Given the description of an element on the screen output the (x, y) to click on. 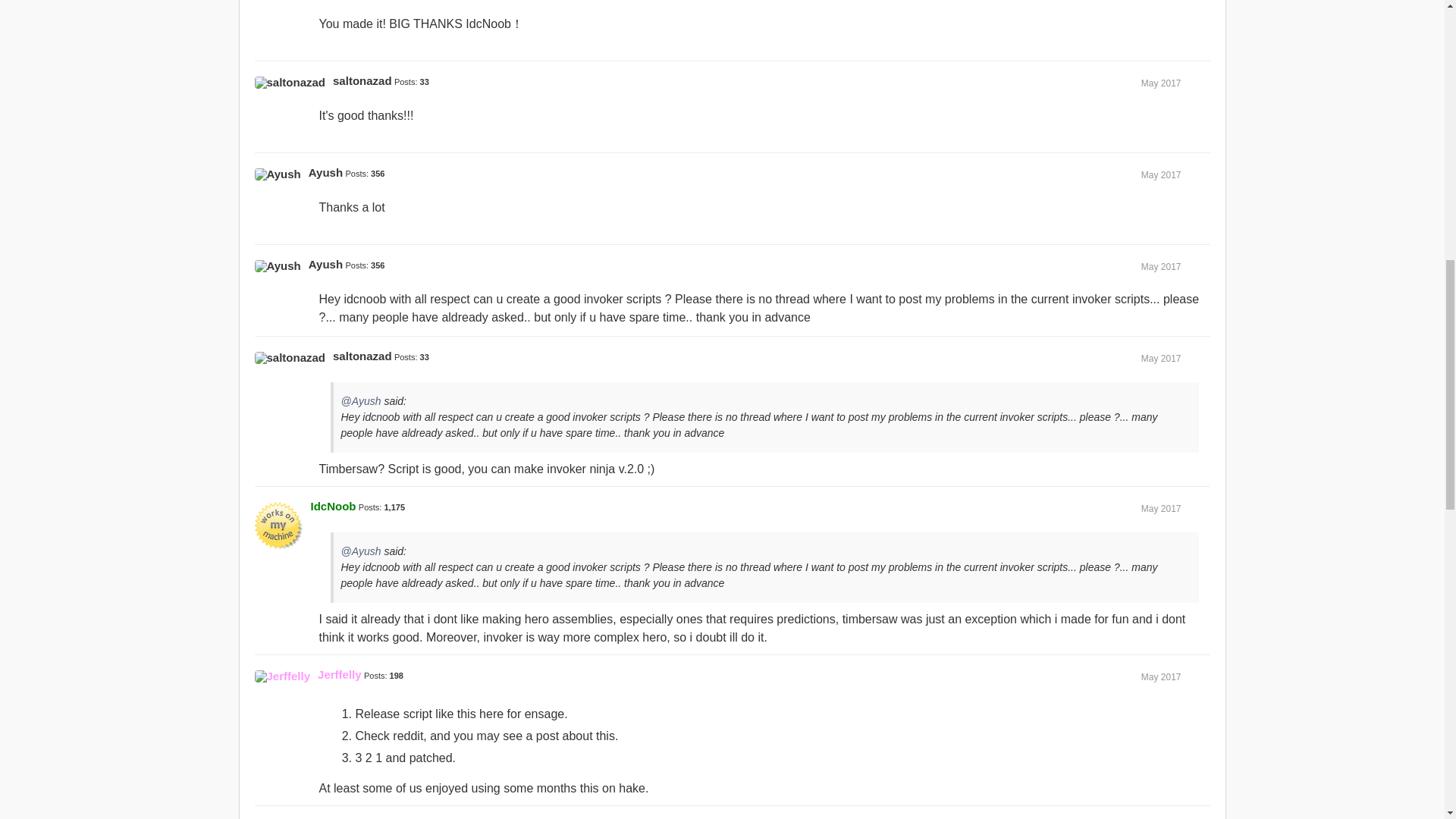
saltonazad (362, 80)
May 2017 (1160, 266)
Ayush (325, 264)
May 25, 2017  8:13AM (1160, 266)
Ayush (325, 172)
saltonazad (290, 82)
May 25, 2017  4:57AM (1160, 82)
May 2017 (1160, 82)
Ayush (277, 265)
saltonazad (362, 355)
May 2017 (1160, 357)
Ayush (277, 174)
May 25, 2017  8:06AM (1160, 174)
May 2017 (1160, 174)
